Given the description of an element on the screen output the (x, y) to click on. 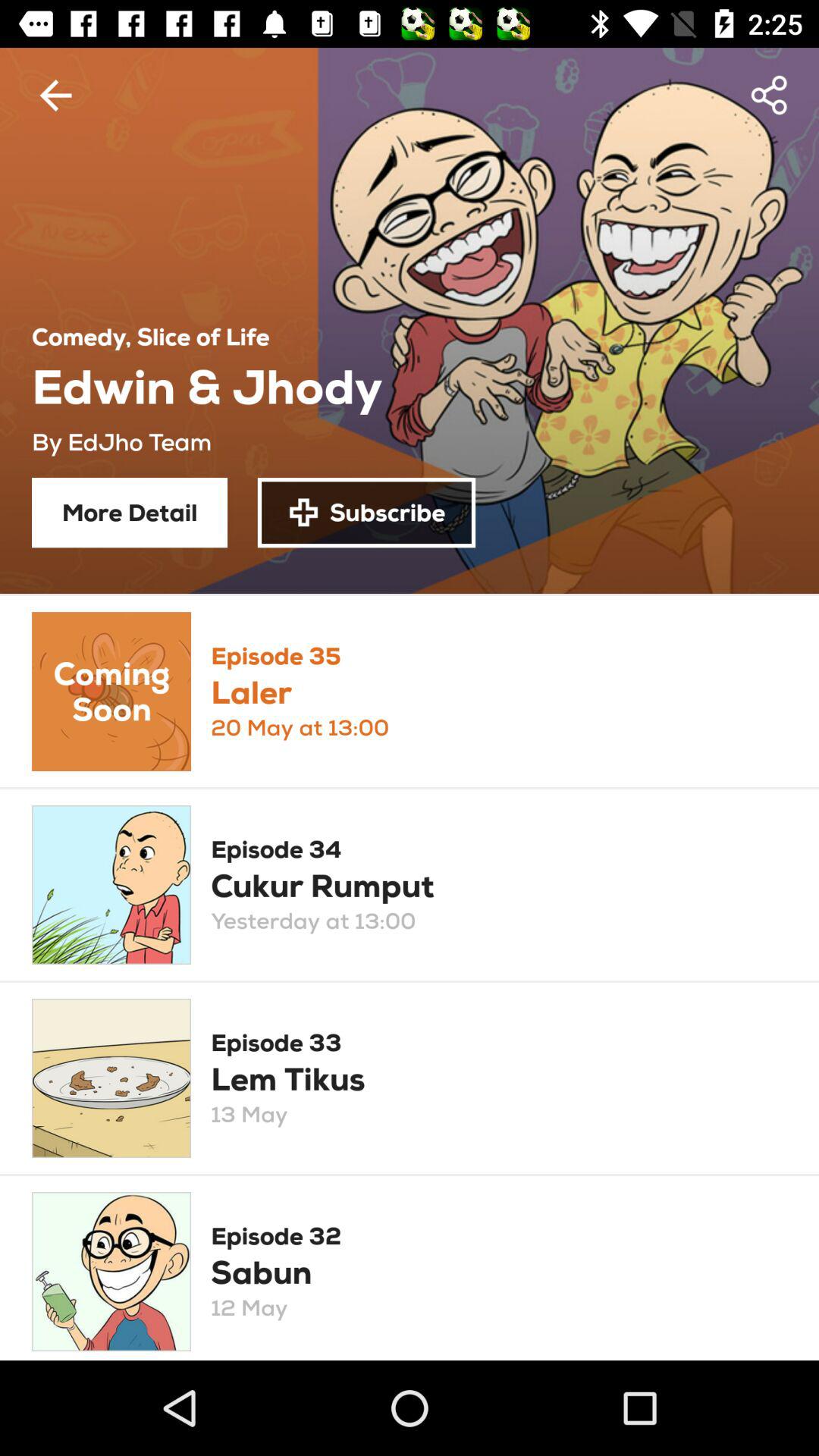
turn on subscribe icon (366, 512)
